Given the description of an element on the screen output the (x, y) to click on. 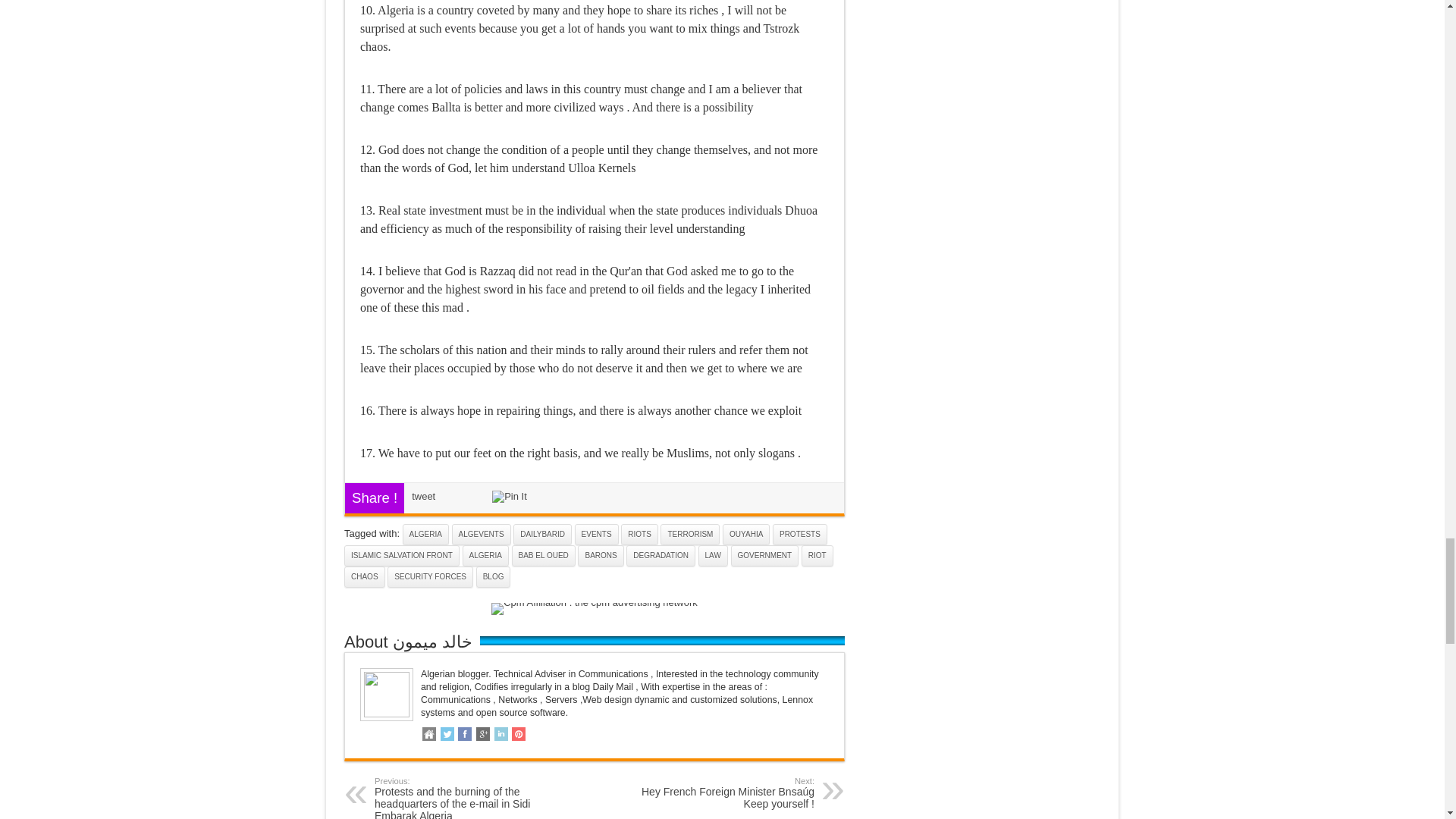
CpmAffiliation : the Cpm advertising network (594, 602)
Pin It (509, 496)
